Given the description of an element on the screen output the (x, y) to click on. 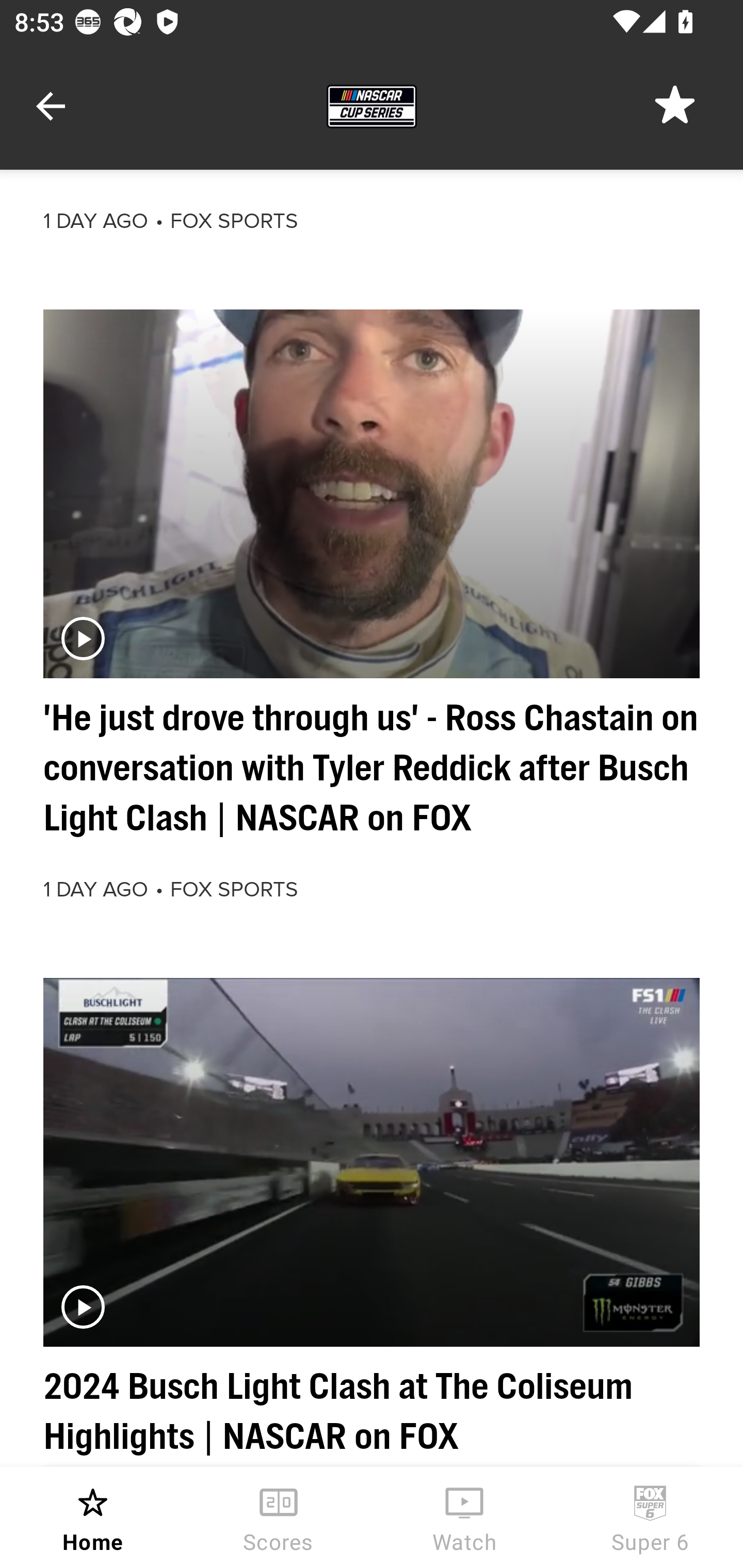
Navigate up (50, 106)
Scores (278, 1517)
Watch (464, 1517)
Super 6 (650, 1517)
